Given the description of an element on the screen output the (x, y) to click on. 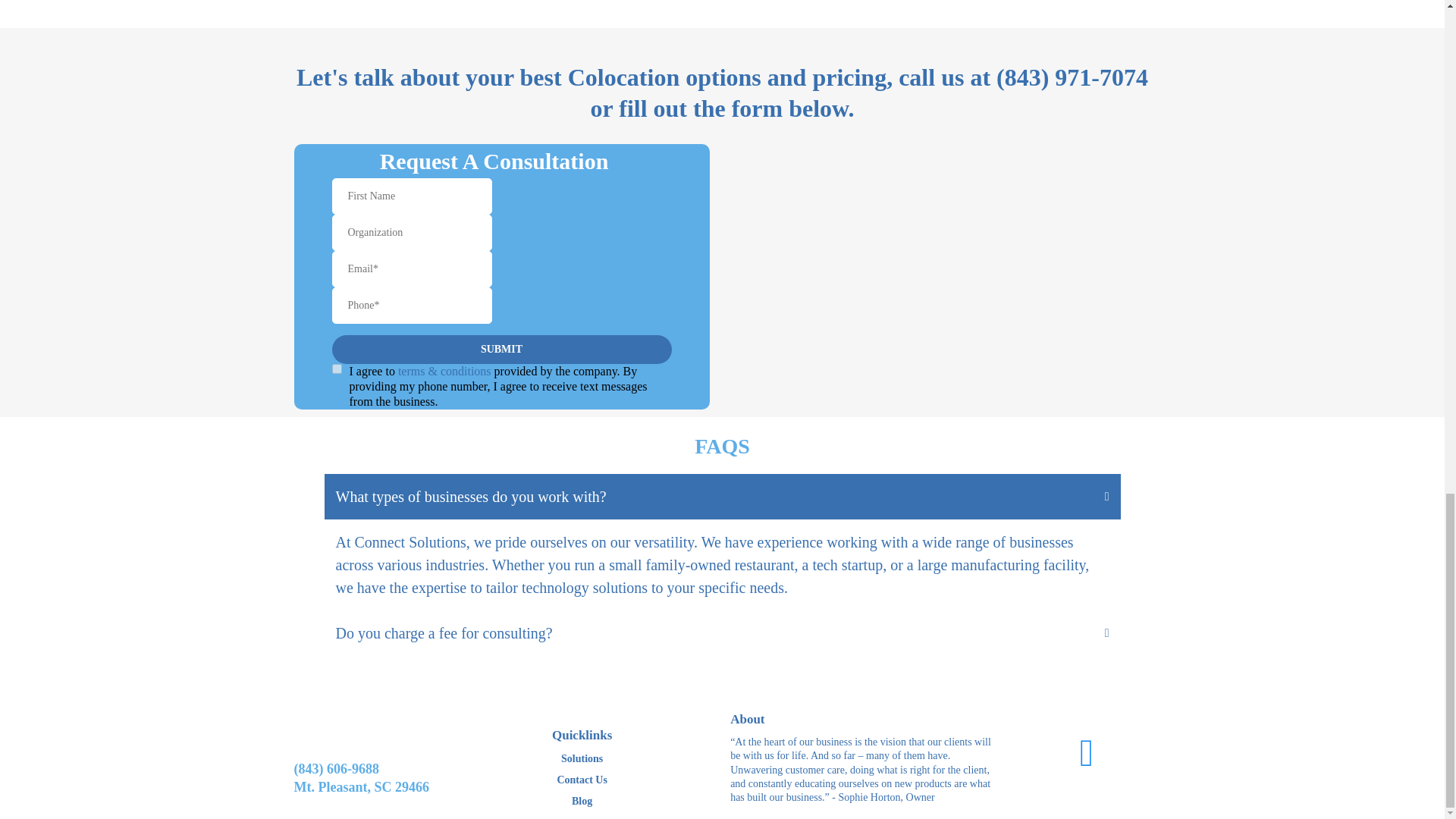
SUBMIT (501, 348)
Contact Us (582, 779)
Solutions (582, 757)
Blog (581, 800)
